Given the description of an element on the screen output the (x, y) to click on. 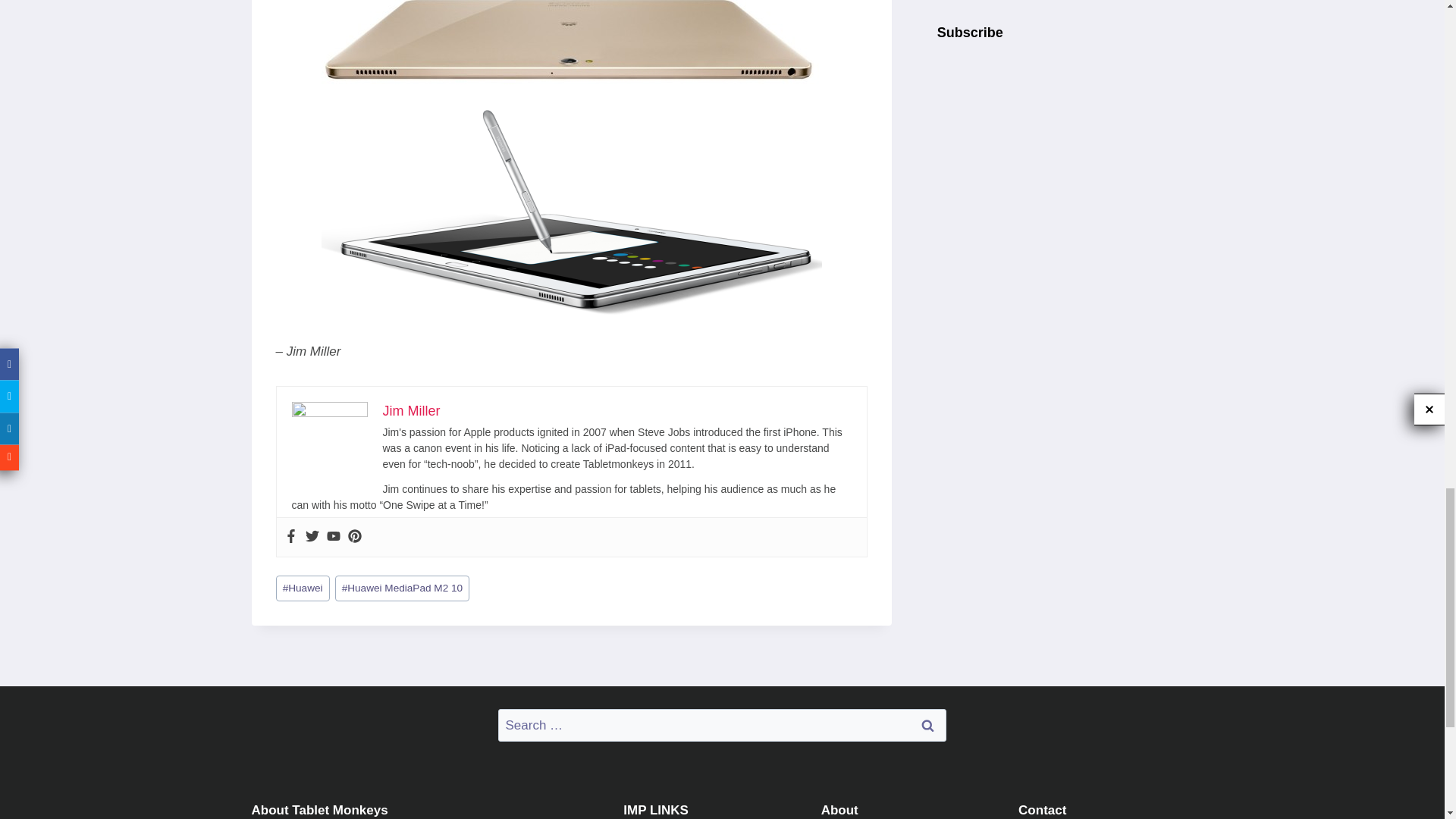
Jim Miller (410, 410)
Search (927, 725)
Search (927, 725)
Huawei (303, 588)
Huawei MediaPad M2 10 (402, 588)
